Given the description of an element on the screen output the (x, y) to click on. 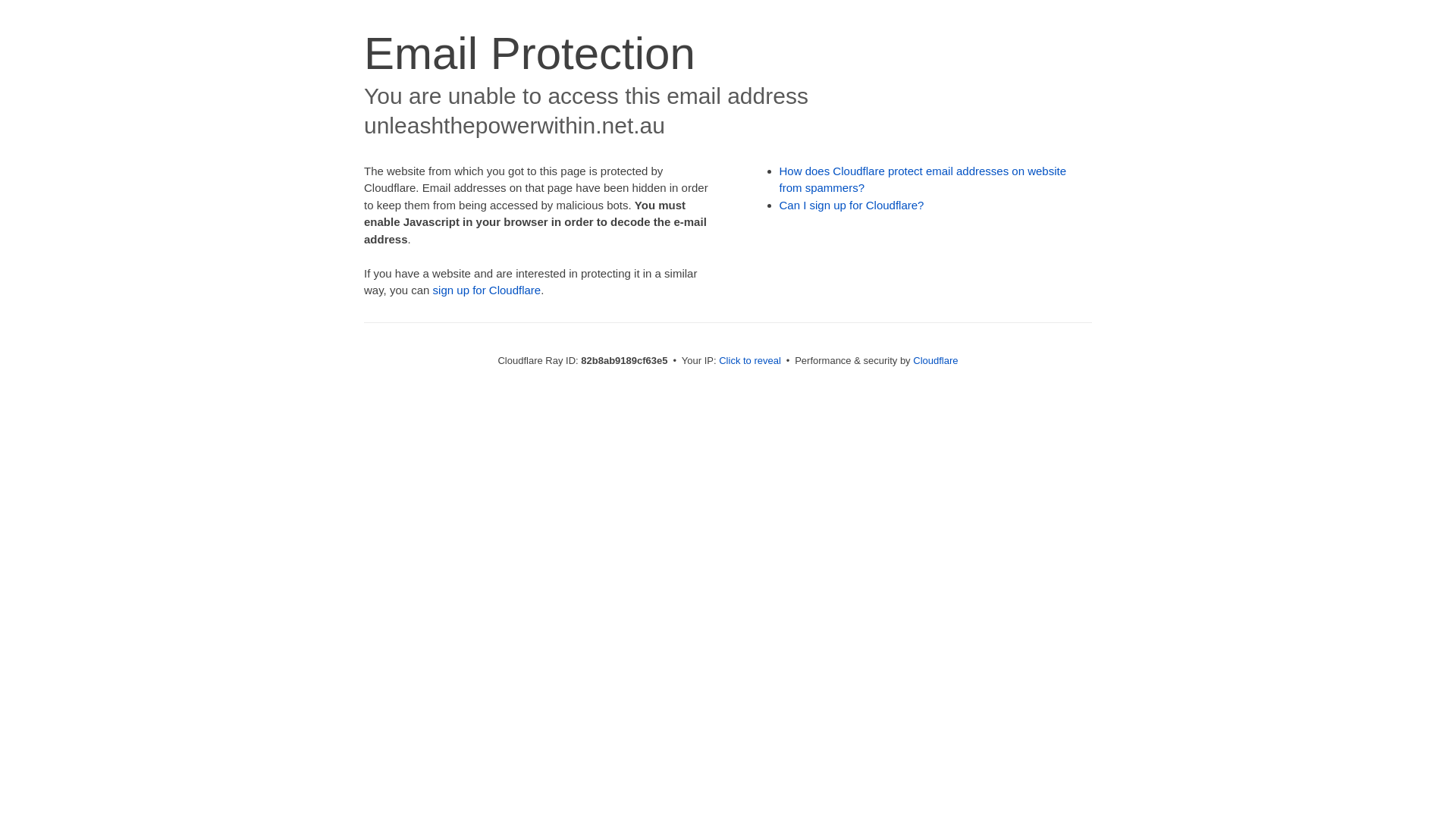
sign up for Cloudflare Element type: text (487, 289)
Click to reveal Element type: text (749, 360)
Cloudflare Element type: text (935, 360)
Can I sign up for Cloudflare? Element type: text (851, 204)
